Given the description of an element on the screen output the (x, y) to click on. 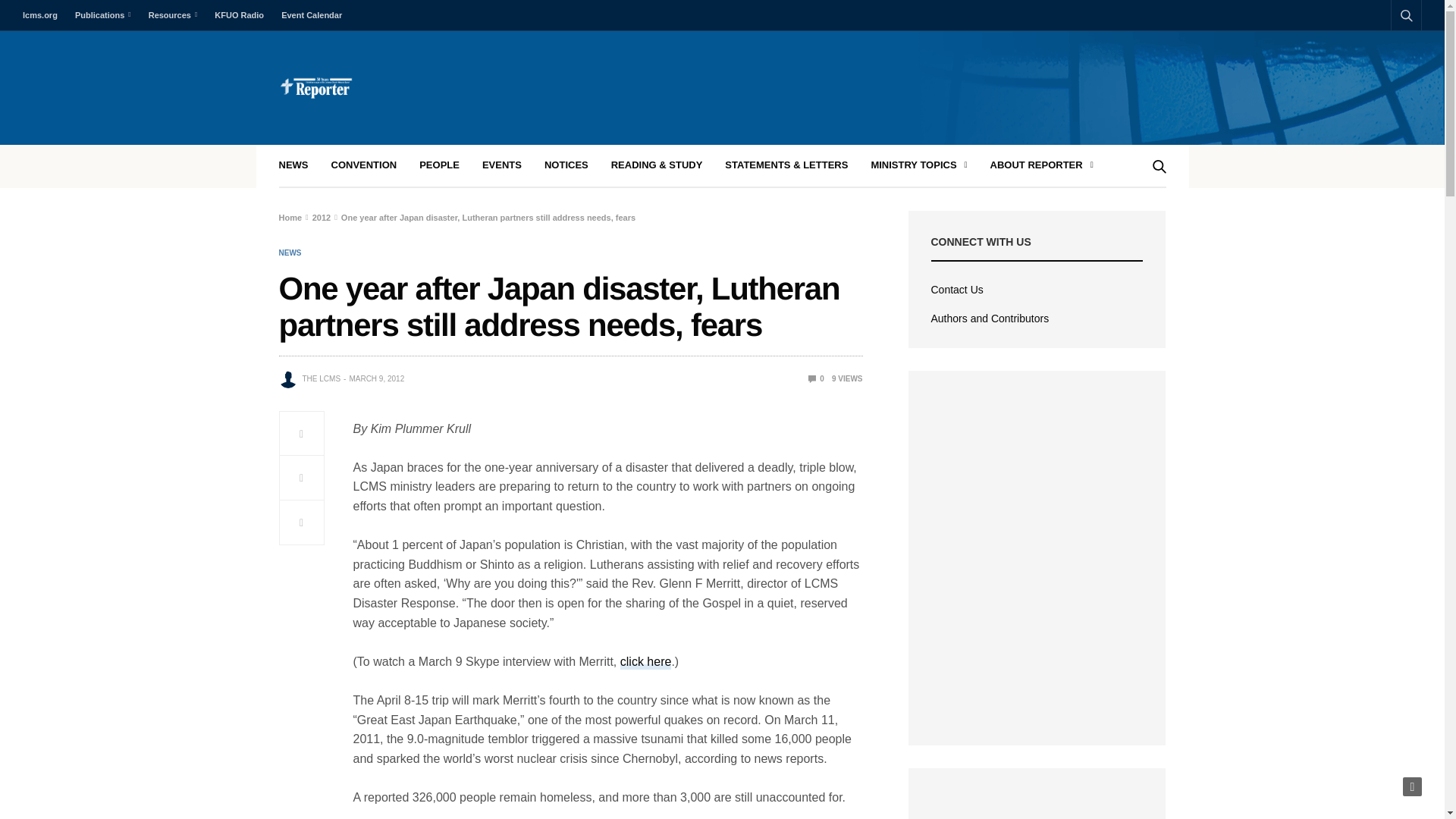
News (290, 253)
lcms.org (44, 15)
Posts by The LCMS (320, 378)
Publications (102, 15)
